Given the description of an element on the screen output the (x, y) to click on. 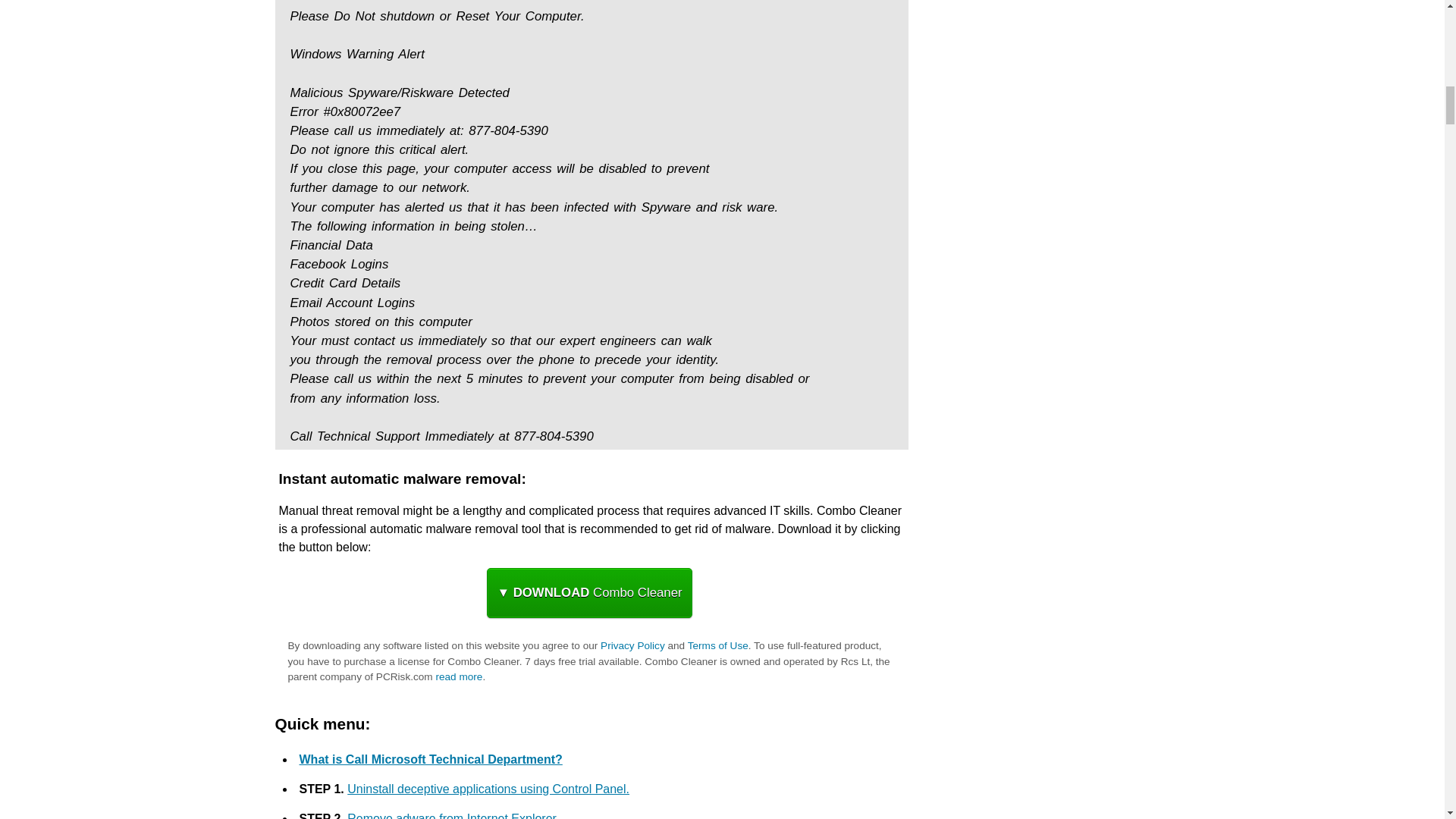
What is Call Microsoft Technical Department? (430, 758)
Remove adware from Internet Explorer. (453, 815)
Read more about us (458, 676)
read more (458, 676)
Uninstall deceptive applications using Control Panel. (487, 788)
Terms of Use (717, 645)
Privacy Policy (632, 645)
